Given the description of an element on the screen output the (x, y) to click on. 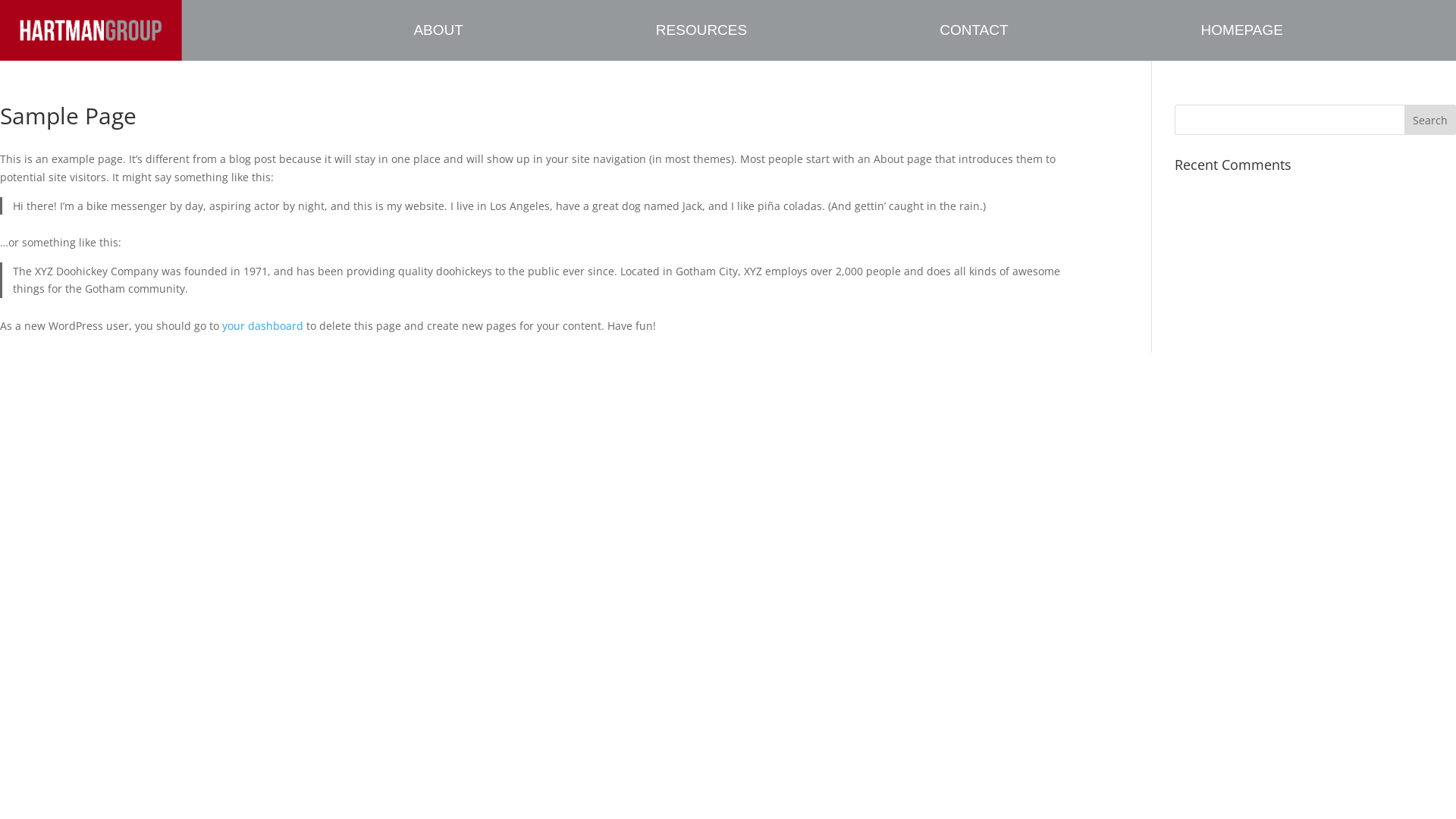
CONTACT Element type: text (1059, 42)
ABOUT Element type: text (524, 42)
RESOURCES Element type: text (787, 42)
your dashboard Element type: text (262, 325)
